Given the description of an element on the screen output the (x, y) to click on. 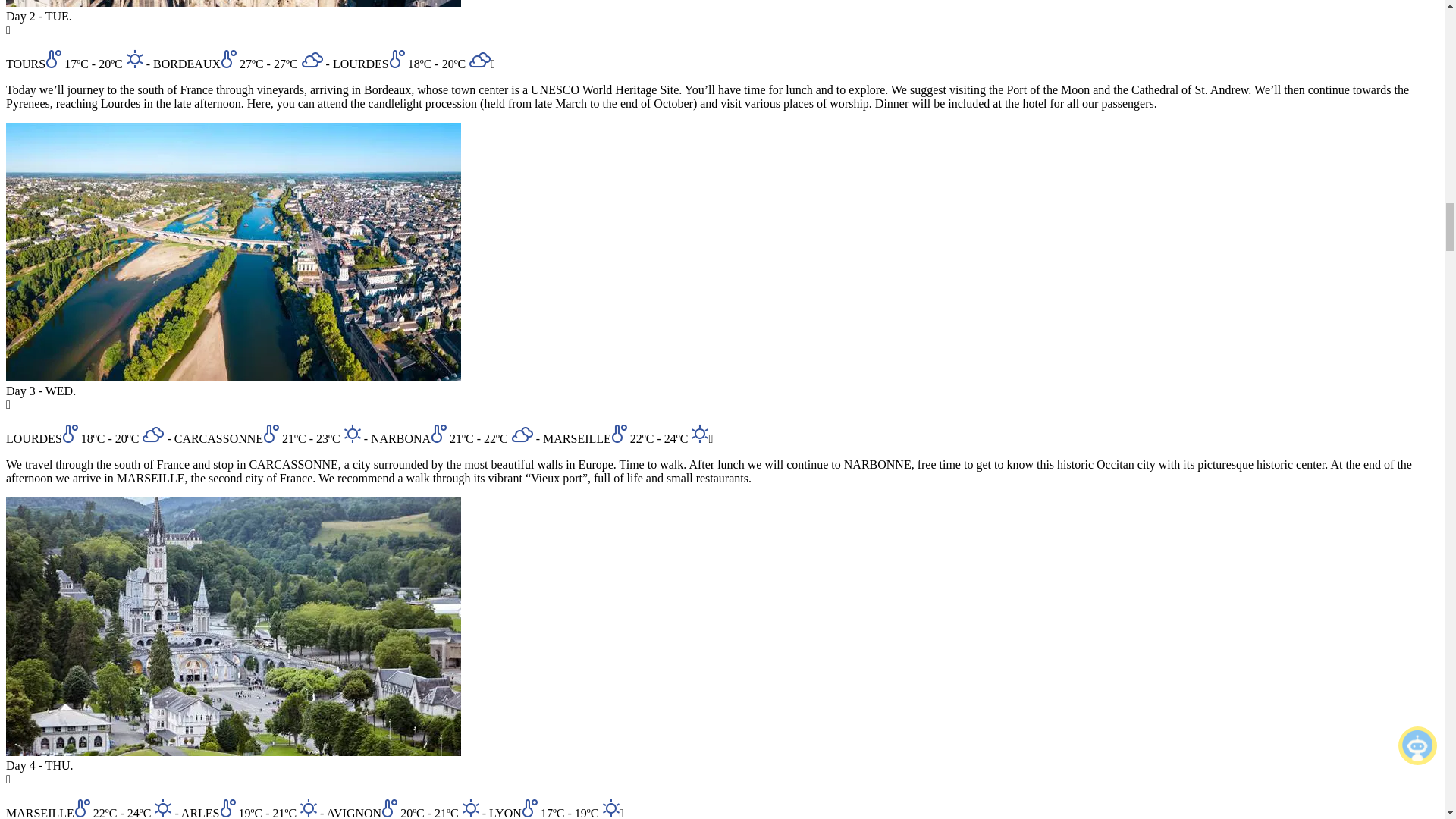
broken clouds (521, 434)
overcast clouds (312, 59)
clear sky (133, 58)
clear sky (698, 433)
clear sky (470, 807)
overcast clouds (479, 59)
clear sky (352, 433)
overcast clouds (152, 434)
clear sky (162, 807)
clear sky (308, 807)
clear sky (611, 807)
